Given the description of an element on the screen output the (x, y) to click on. 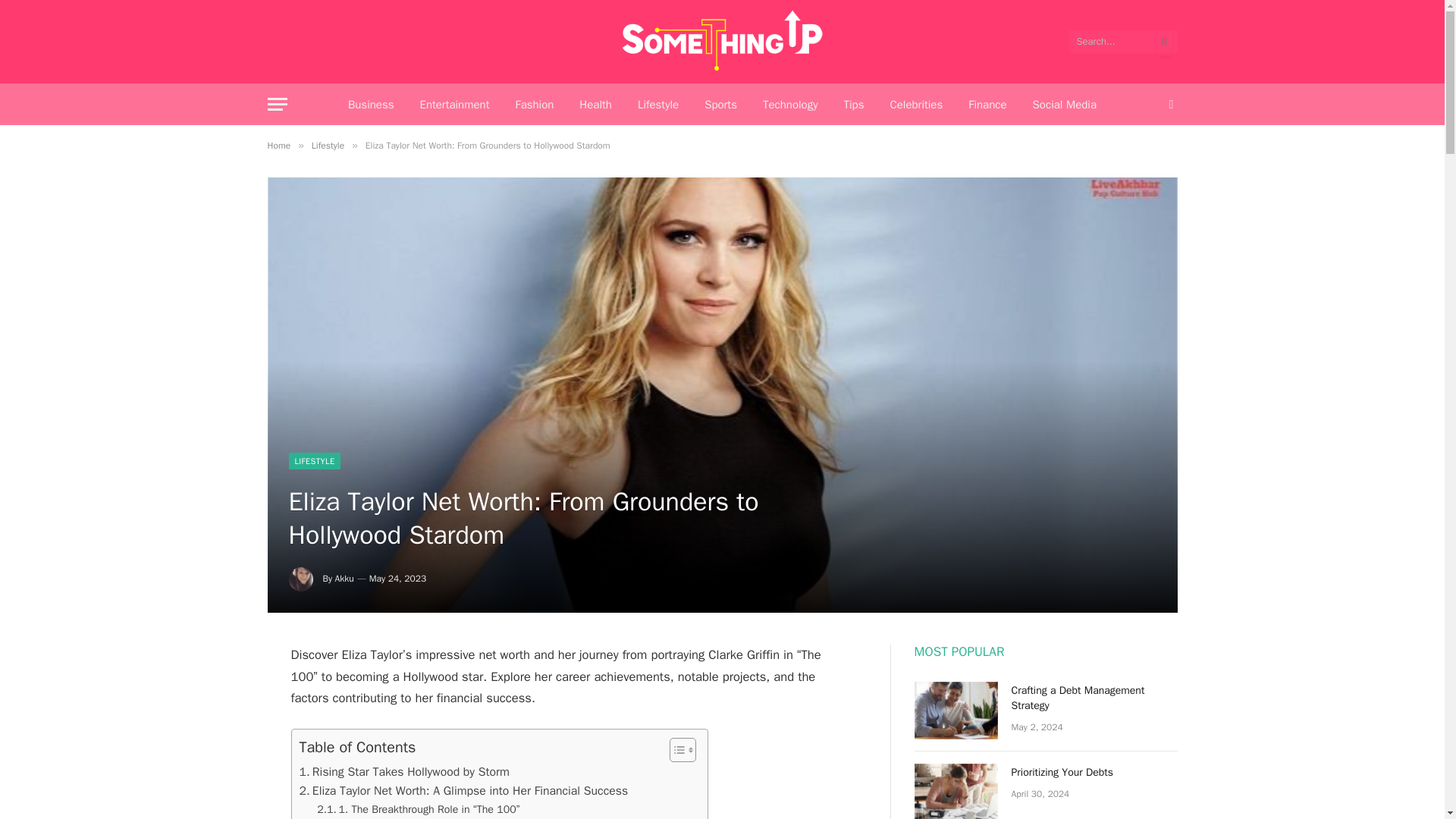
Switch to Dark Design - easier on eyes. (1168, 104)
Social Media (1064, 104)
Celebrities (915, 104)
Business (370, 104)
Home (277, 145)
Tips (852, 104)
Sports (720, 104)
Akku (343, 578)
LIFESTYLE (314, 460)
Entertainment (454, 104)
Lifestyle (327, 145)
Posts by Akku (343, 578)
Technology (790, 104)
Finance (987, 104)
